Given the description of an element on the screen output the (x, y) to click on. 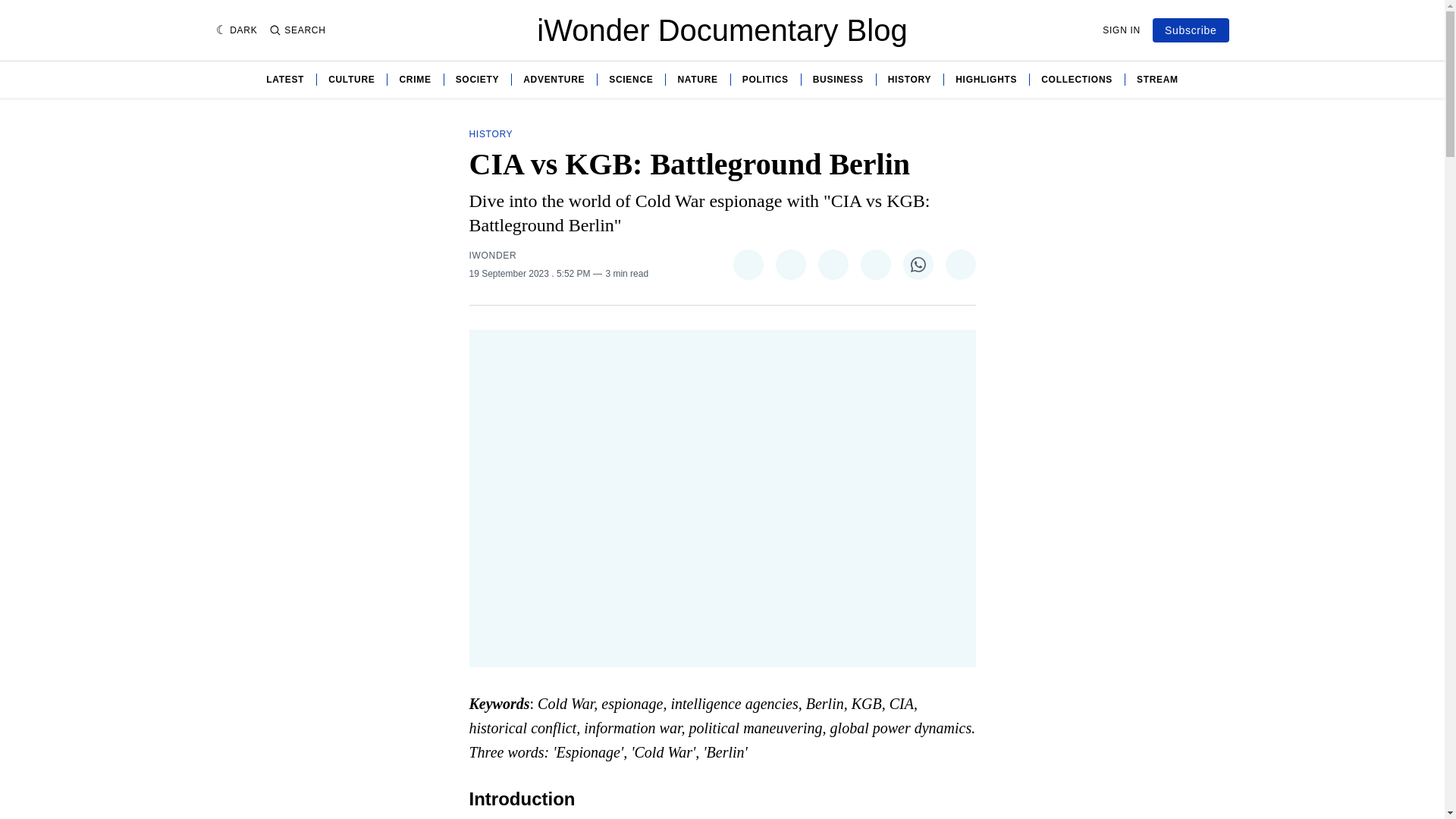
NATURE (697, 79)
SEARCH (296, 30)
COLLECTIONS (1076, 79)
LATEST (285, 79)
BUSINESS (837, 79)
SCIENCE (630, 79)
SOCIETY (477, 79)
HISTORY (909, 79)
DARK (236, 29)
HIGHLIGHTS (985, 79)
SIGN IN (1121, 30)
Subscribe (1190, 30)
Share on Twitter (747, 264)
Share on LinkedIn (874, 264)
Share on Pinterest (831, 264)
